Given the description of an element on the screen output the (x, y) to click on. 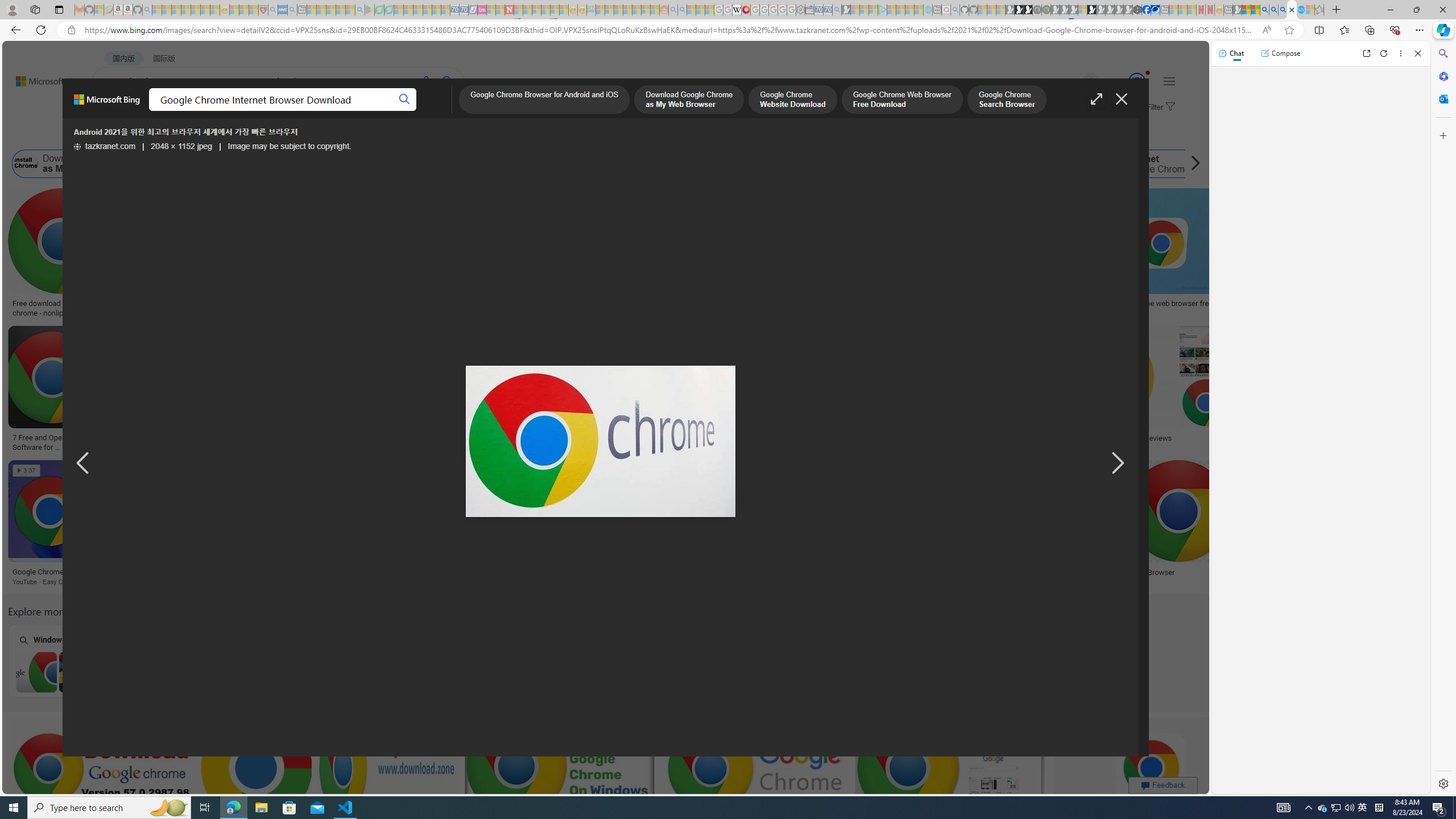
All Categories - humanrewa (604, 437)
Back to Bing search (41, 78)
Nordace | Facebook (1146, 9)
MORE (451, 111)
People (295, 135)
People (295, 135)
